Given the description of an element on the screen output the (x, y) to click on. 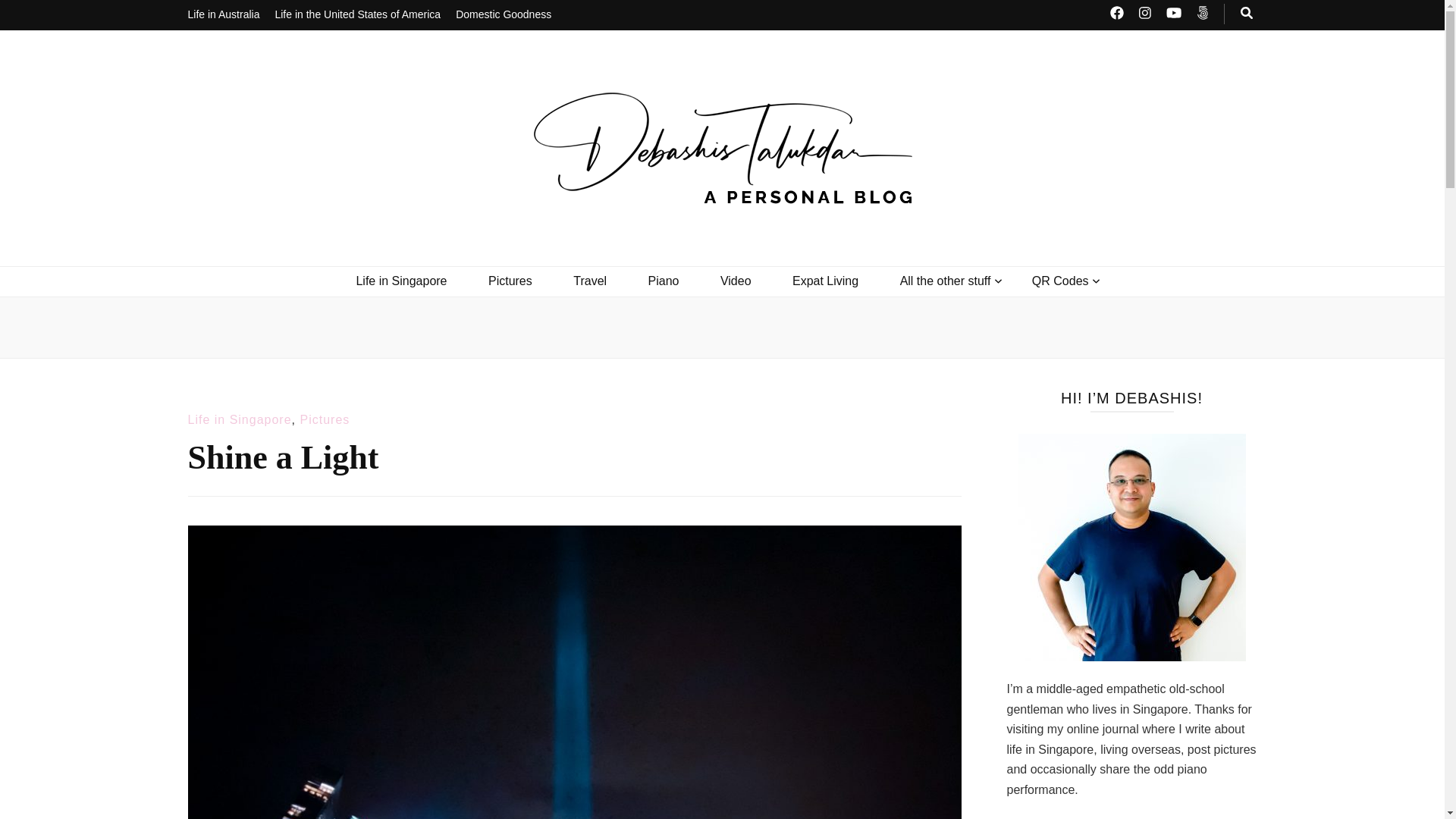
Life in Singapore (400, 281)
Life in Australia (223, 15)
Life in Singapore (239, 419)
Travel (590, 281)
Video (735, 281)
Domestic Goodness (503, 15)
All the other stuff (945, 281)
QR Codes (1060, 281)
Piano (663, 281)
Life in the United States of America (358, 15)
